Given the description of an element on the screen output the (x, y) to click on. 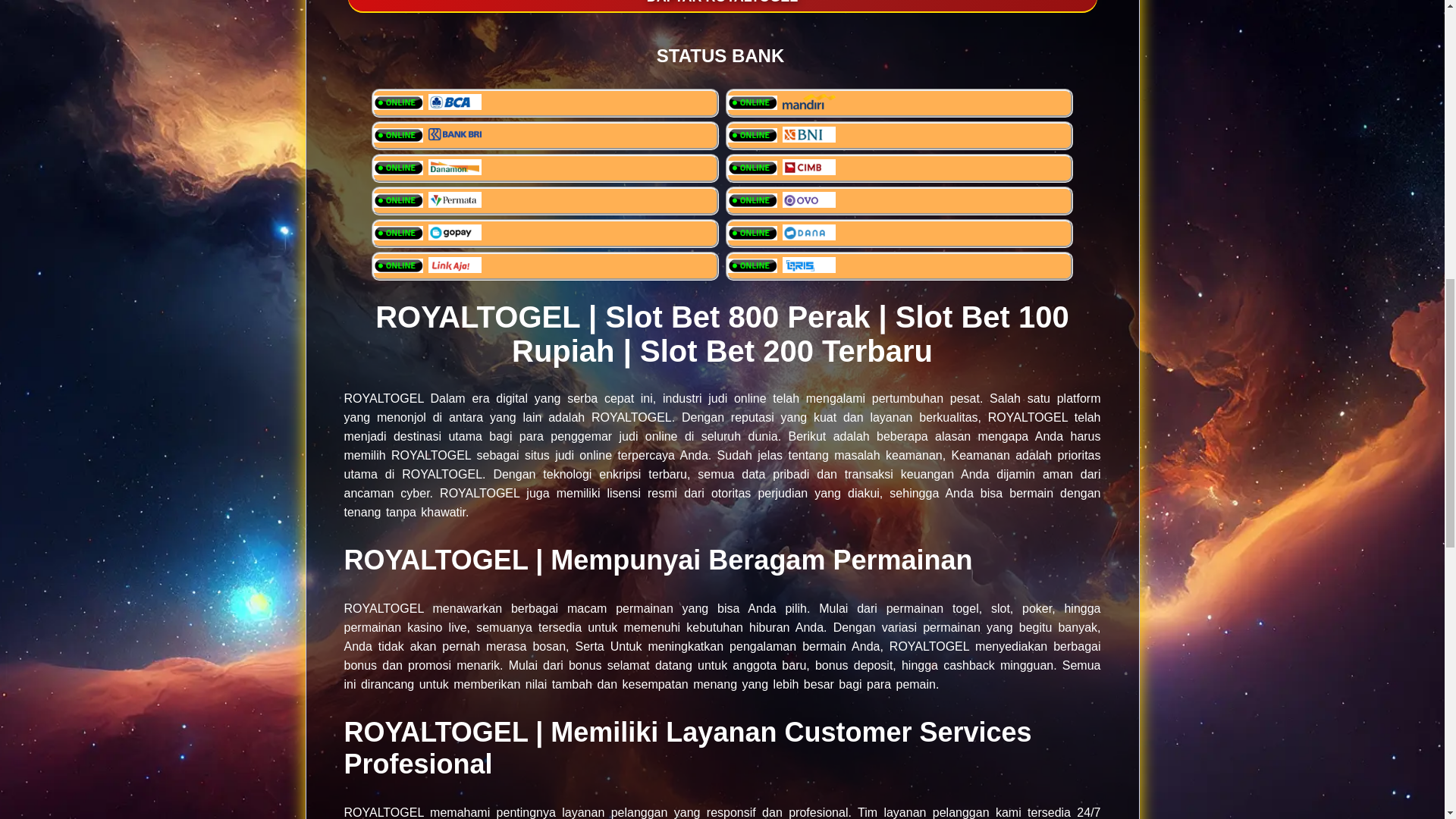
ROYALTOGEL (383, 398)
DAFTAR ROYALTOGEL (721, 6)
